Given the description of an element on the screen output the (x, y) to click on. 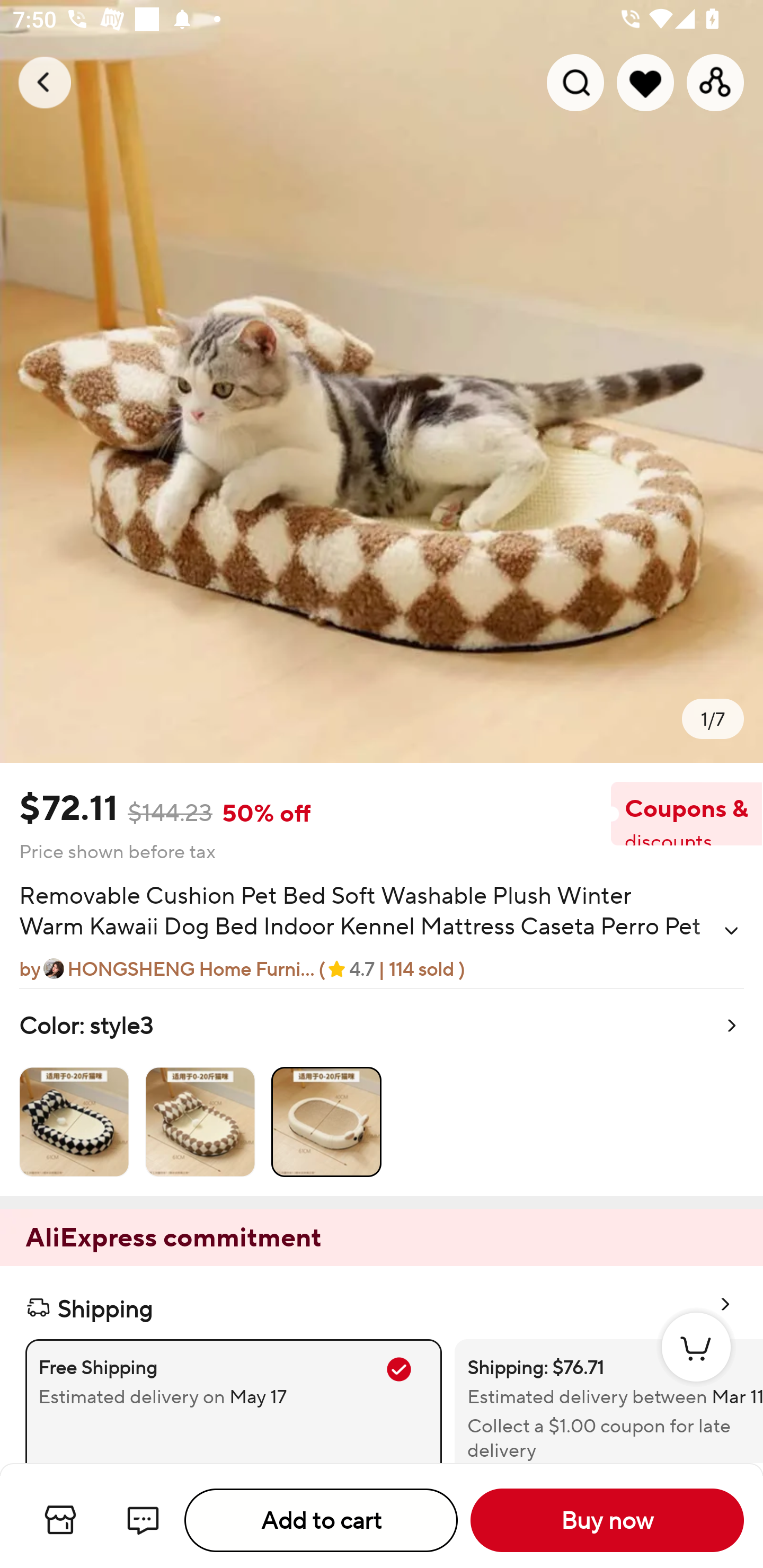
Navigate up (44, 82)
 (730, 930)
Color: style3  (381, 1092)
Free Shipping  Estimated delivery on May 17  (233, 1400)
Add to cart (320, 1520)
Buy now (606, 1520)
